Given the description of an element on the screen output the (x, y) to click on. 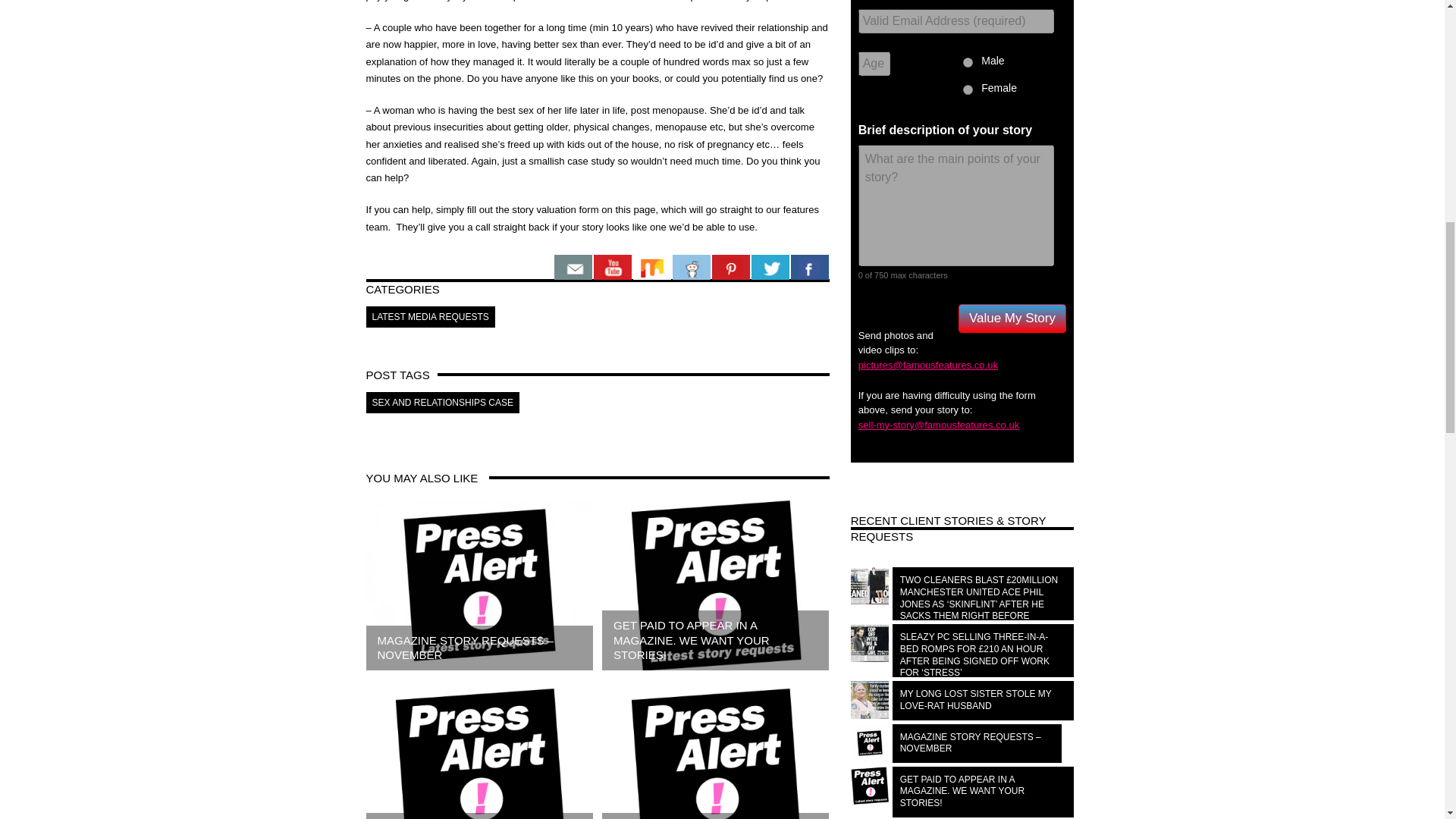
LATEST MEDIA REQUESTS (430, 316)
Female (967, 90)
Contact us (572, 267)
Share On Facebook (809, 267)
Share On Pinterest (730, 267)
Share On Youtube (611, 267)
Share On Twitter (770, 267)
Share On Reddit (690, 267)
SEX AND RELATIONSHIPS CASE (442, 402)
Male (967, 62)
Share On Stumbleupon (650, 267)
